Given the description of an element on the screen output the (x, y) to click on. 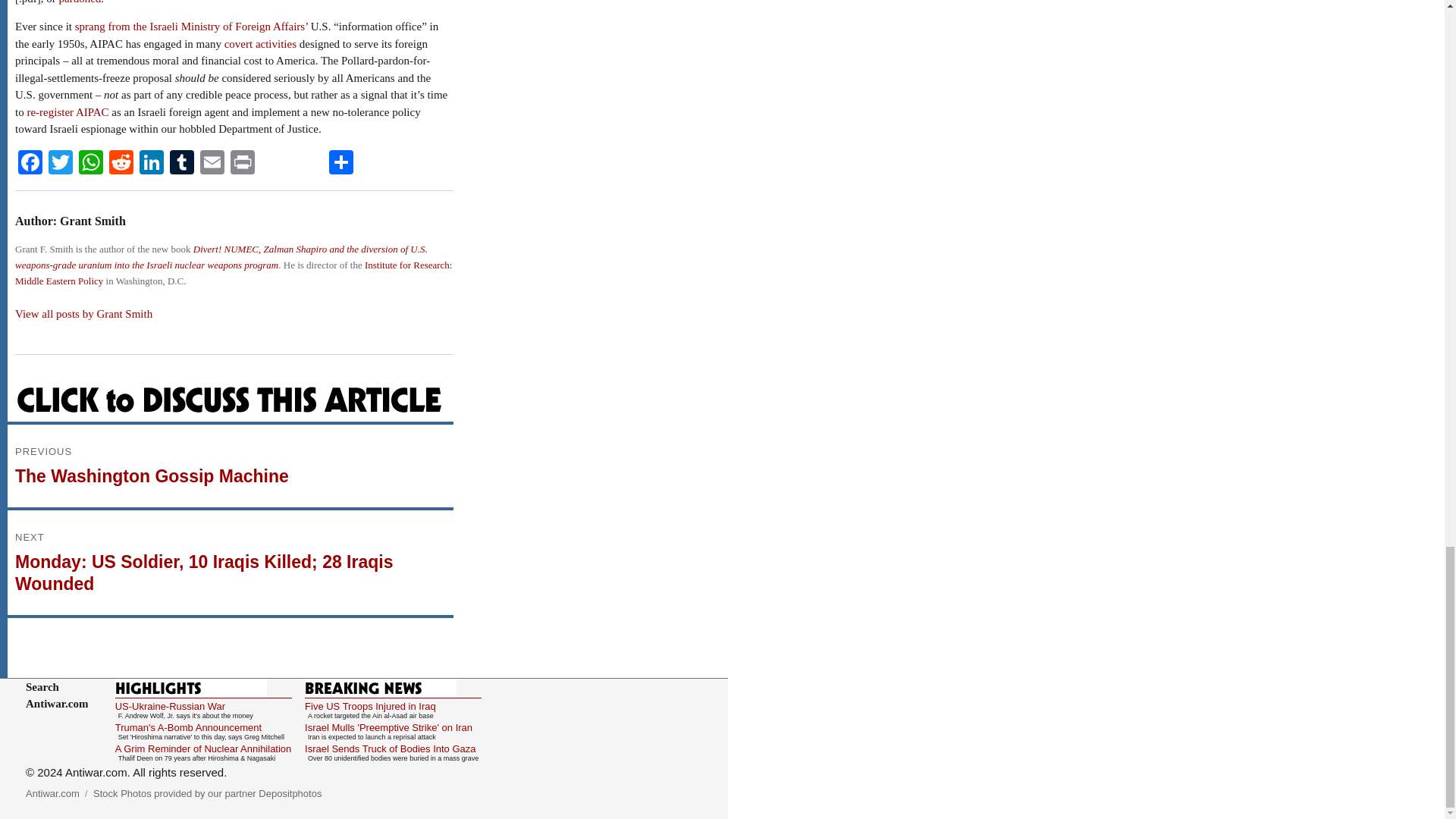
Reddit (121, 163)
Print (242, 163)
Facebook (29, 163)
LinkedIn (151, 163)
Tumblr (181, 163)
Email (211, 163)
Twitter (60, 163)
WhatsApp (90, 163)
